Given the description of an element on the screen output the (x, y) to click on. 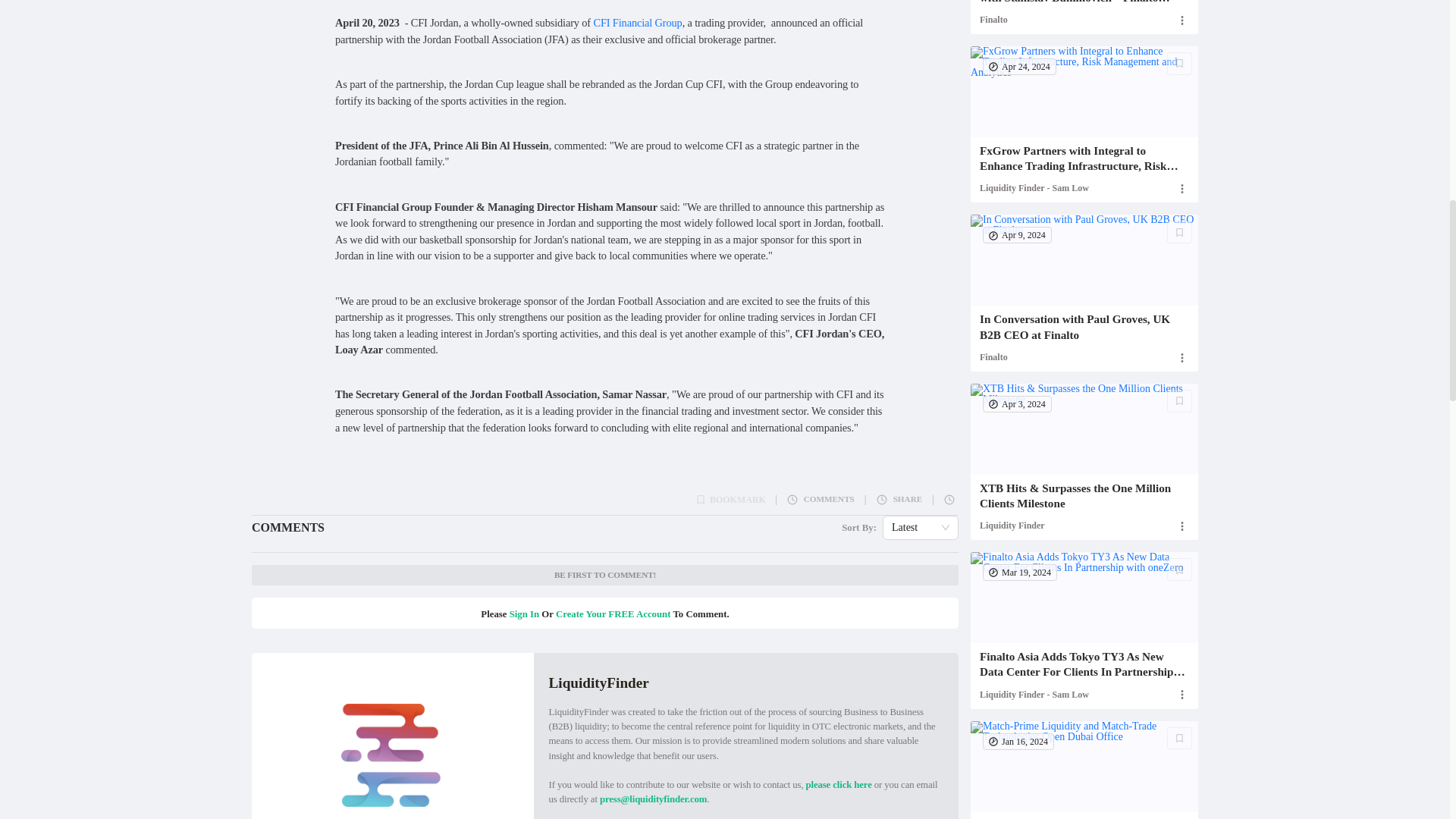
COMMENTS (821, 499)
SHARE (899, 499)
please click here (839, 784)
Latest (920, 527)
BOOKMARK (729, 499)
CFI Financial Group (636, 22)
Sign In (523, 614)
Create Your FREE Account (613, 614)
